Given the description of an element on the screen output the (x, y) to click on. 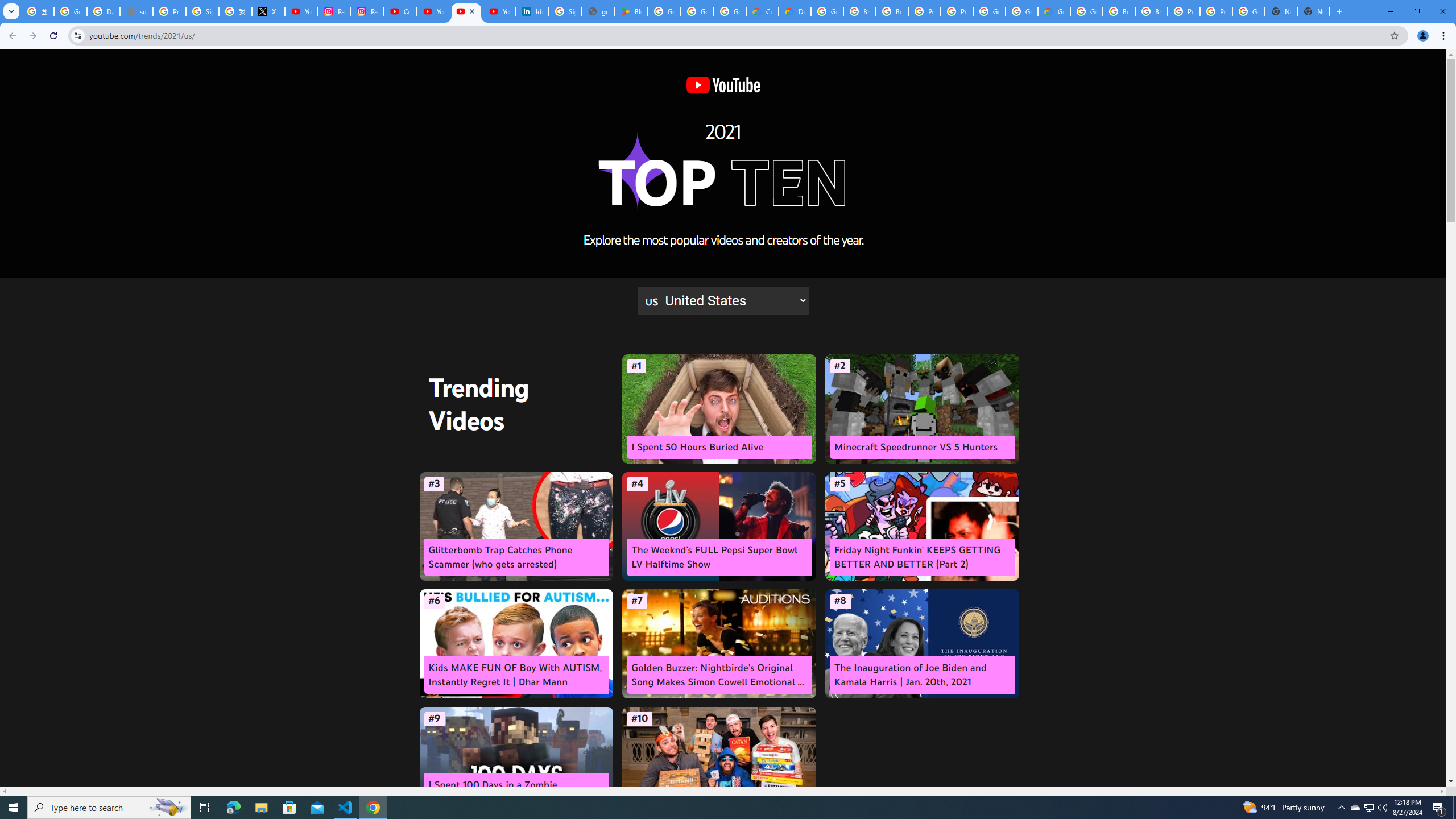
Browse Chrome as a guest - Computer - Google Chrome Help (1118, 11)
Identity verification via Persona | LinkedIn Help (532, 11)
New Tab (1313, 11)
google_privacy_policy_en.pdf (598, 11)
Google Workspace - Specific Terms (697, 11)
Browse Chrome as a guest - Computer - Google Chrome Help (859, 11)
Sign in - Google Accounts (564, 11)
